Given the description of an element on the screen output the (x, y) to click on. 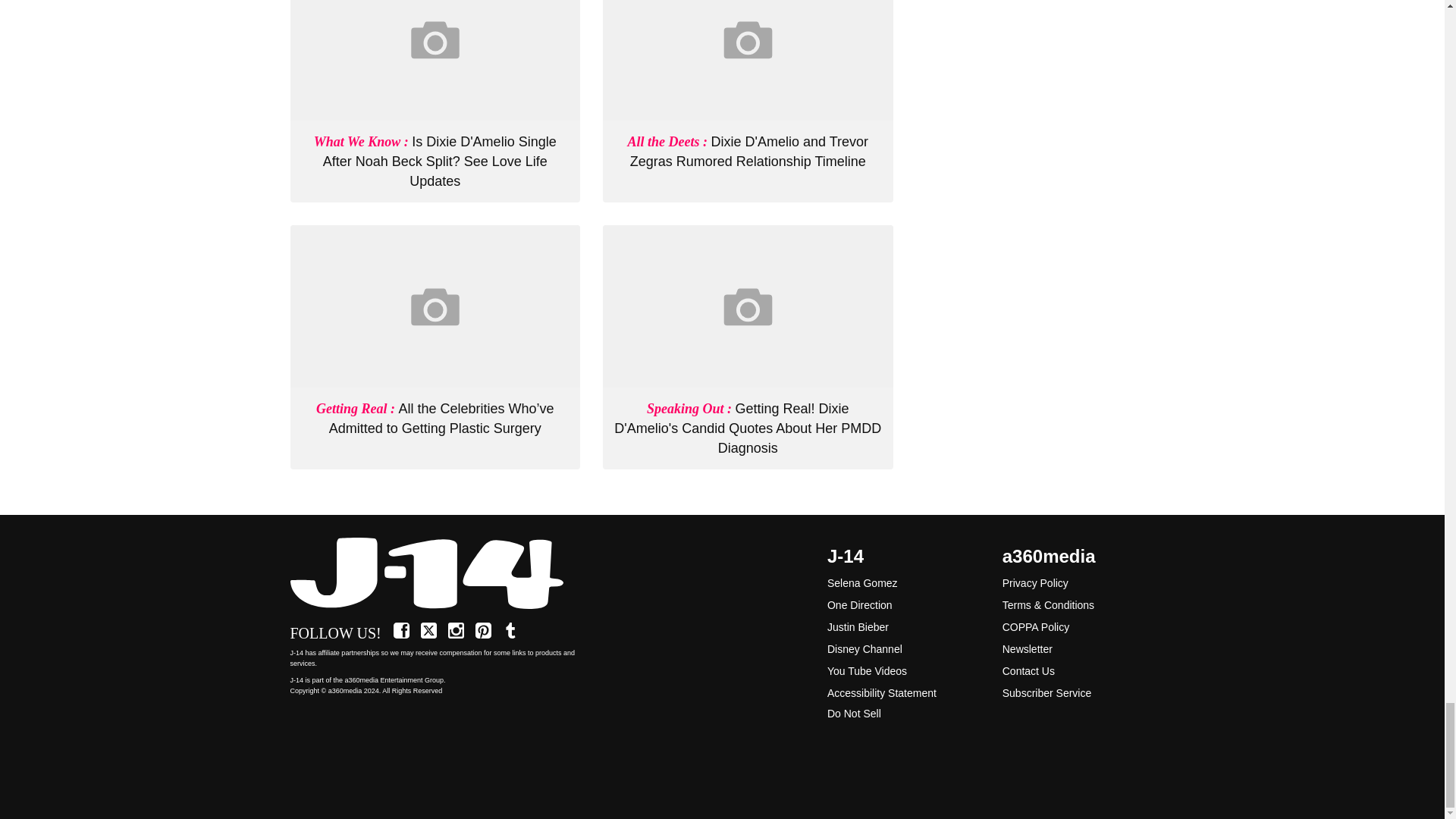
Home (434, 573)
